Given the description of an element on the screen output the (x, y) to click on. 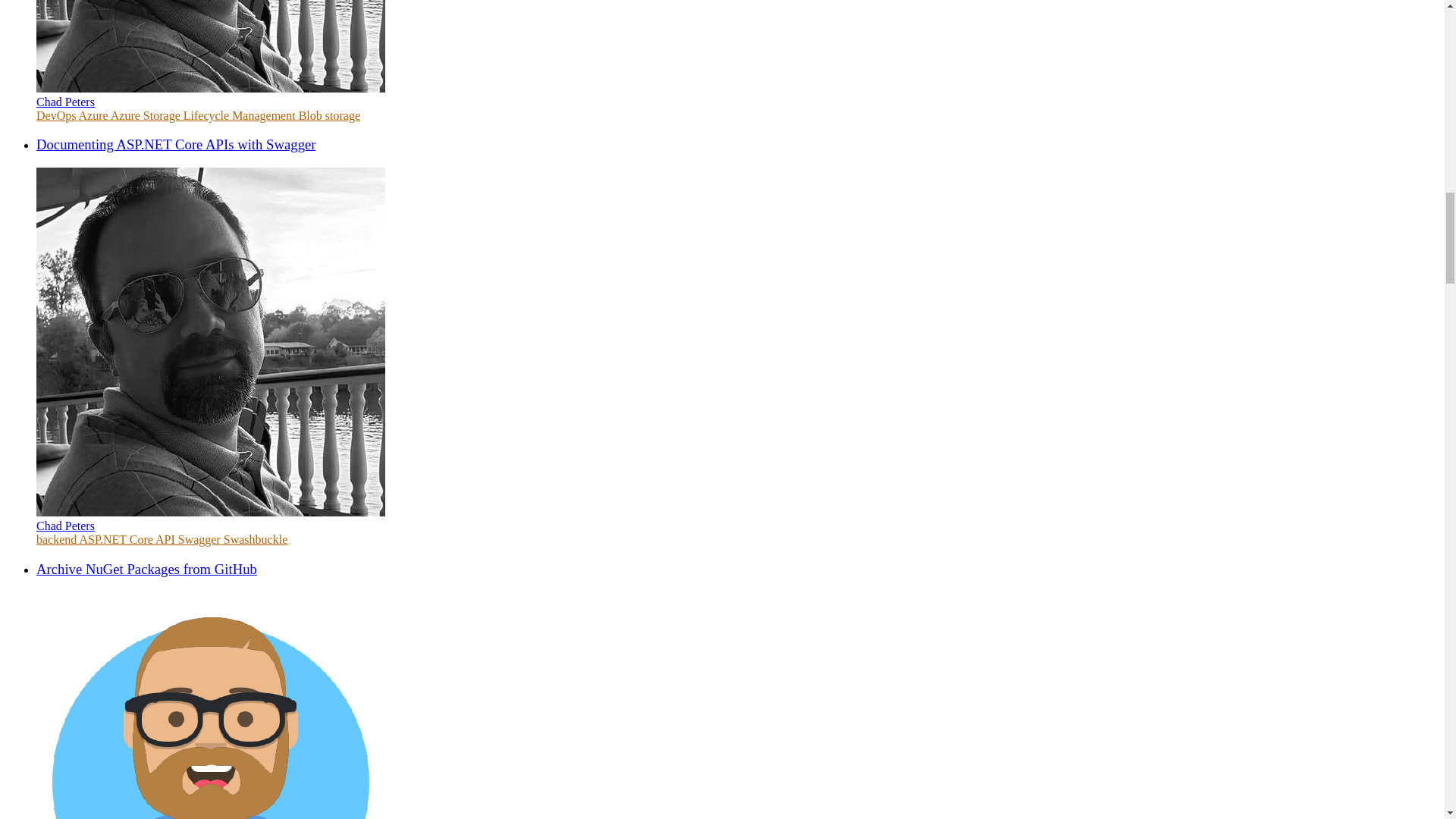
Chad Peters (65, 525)
Swashbuckle (255, 539)
Documenting ASP.NET Core APIs with Swagger (175, 144)
Azure (94, 115)
Lifecycle Management (240, 115)
Documenting ASP.NET Core APIs with Swagger (175, 144)
Blob storage (328, 115)
Swagger (200, 539)
API (166, 539)
Chad Peters (65, 101)
backend (57, 539)
ASP.NET Core (116, 539)
DevOps (57, 115)
Archive NuGet Packages from GitHub (146, 569)
Archive NuGet Packages from GitHub (146, 569)
